Given the description of an element on the screen output the (x, y) to click on. 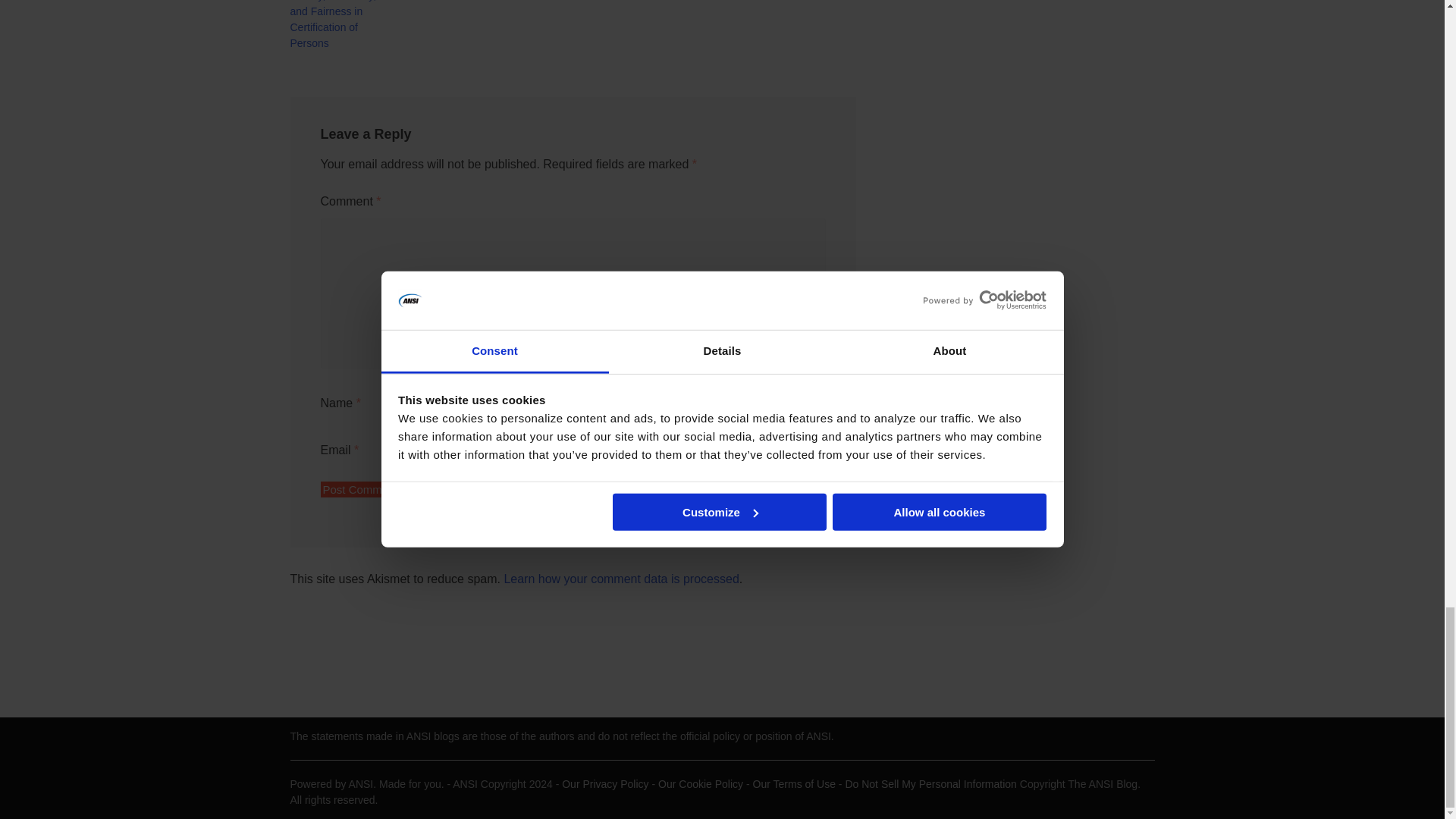
Post Comment (359, 489)
